Given the description of an element on the screen output the (x, y) to click on. 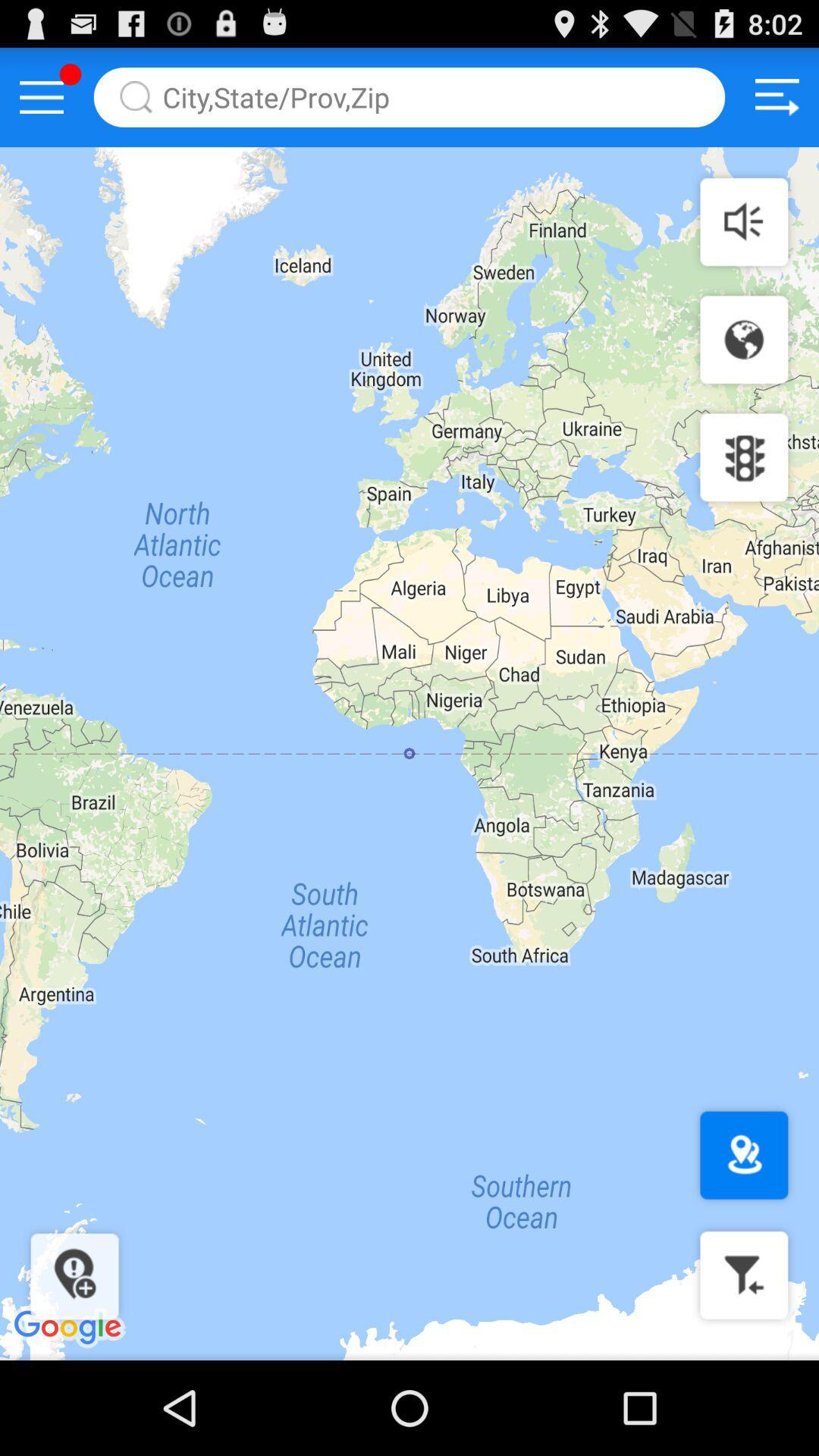
filter the destination (744, 1275)
